Given the description of an element on the screen output the (x, y) to click on. 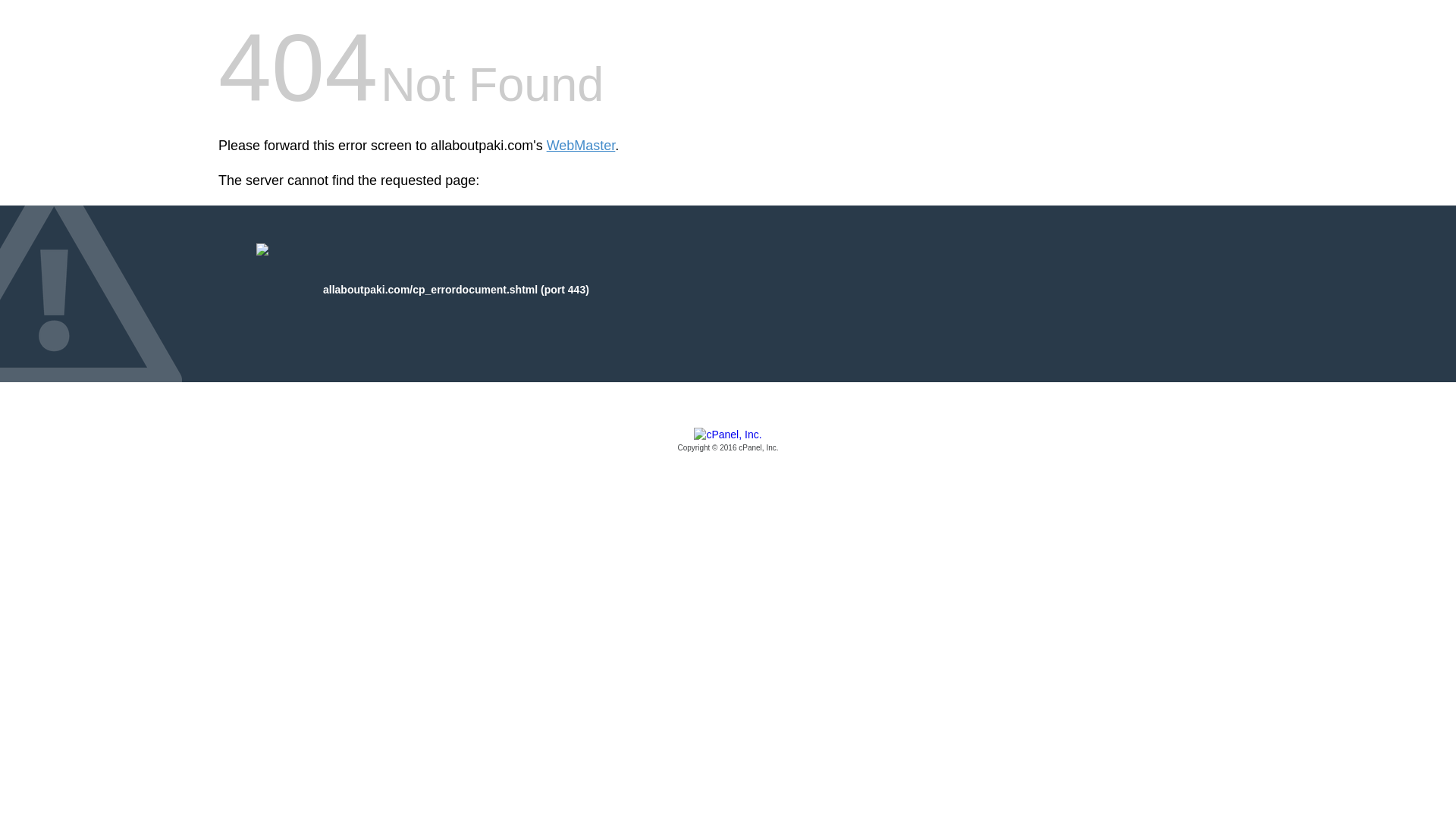
WebMaster (581, 145)
cPanel, Inc. (727, 440)
